Given the description of an element on the screen output the (x, y) to click on. 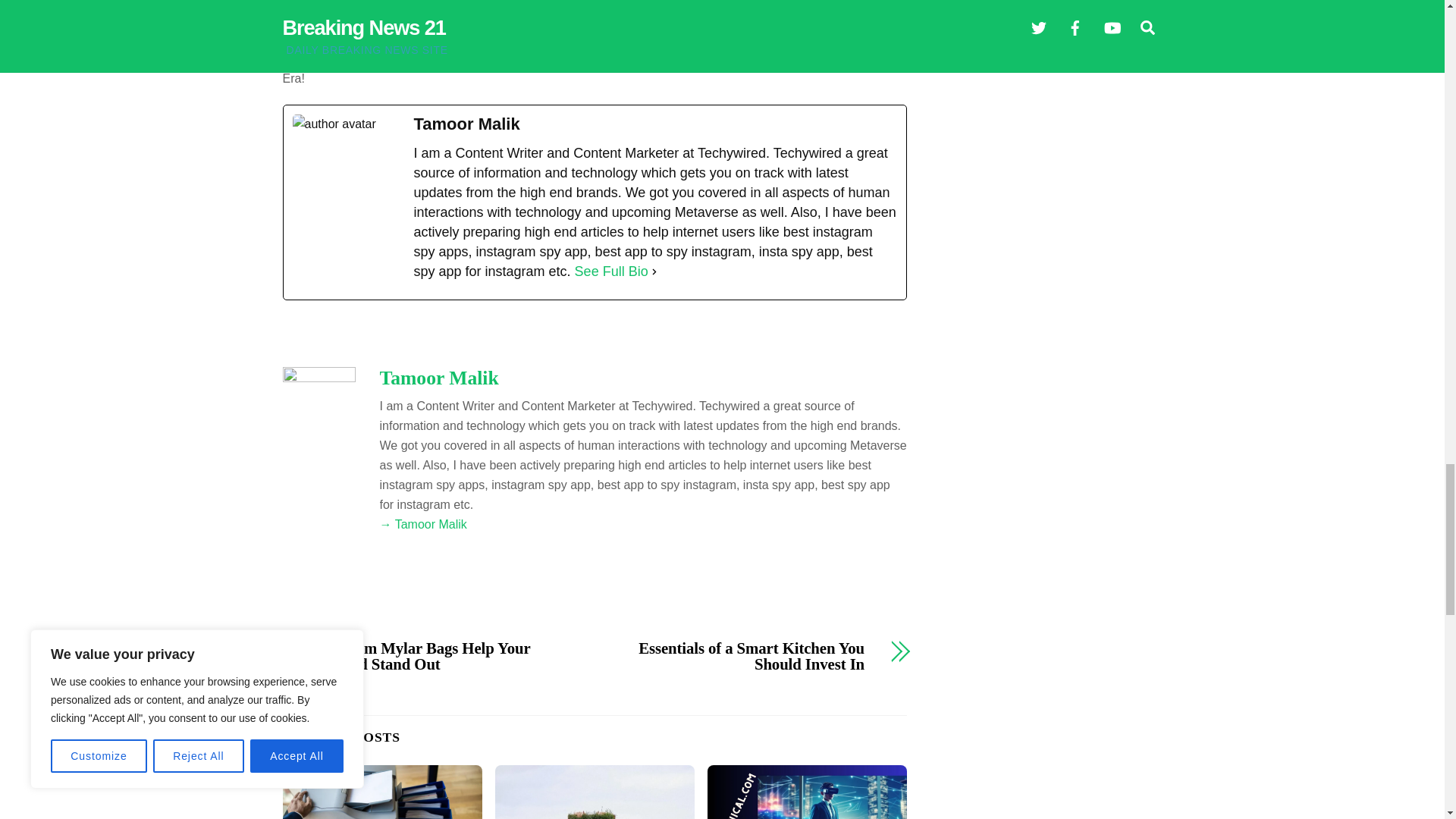
Tamoor Malik (437, 377)
Custom Mylar Bags Help Your Brand Stand Out (449, 656)
tour (882, 5)
Why iPhone Faxing is the Future of Mobile Communication (381, 791)
See Full Bio (611, 271)
Expert Artificial Turf Installers at RLG Landscaping (595, 791)
Essentials of a Smart Kitchen You Should Invest In (738, 656)
